Given the description of an element on the screen output the (x, y) to click on. 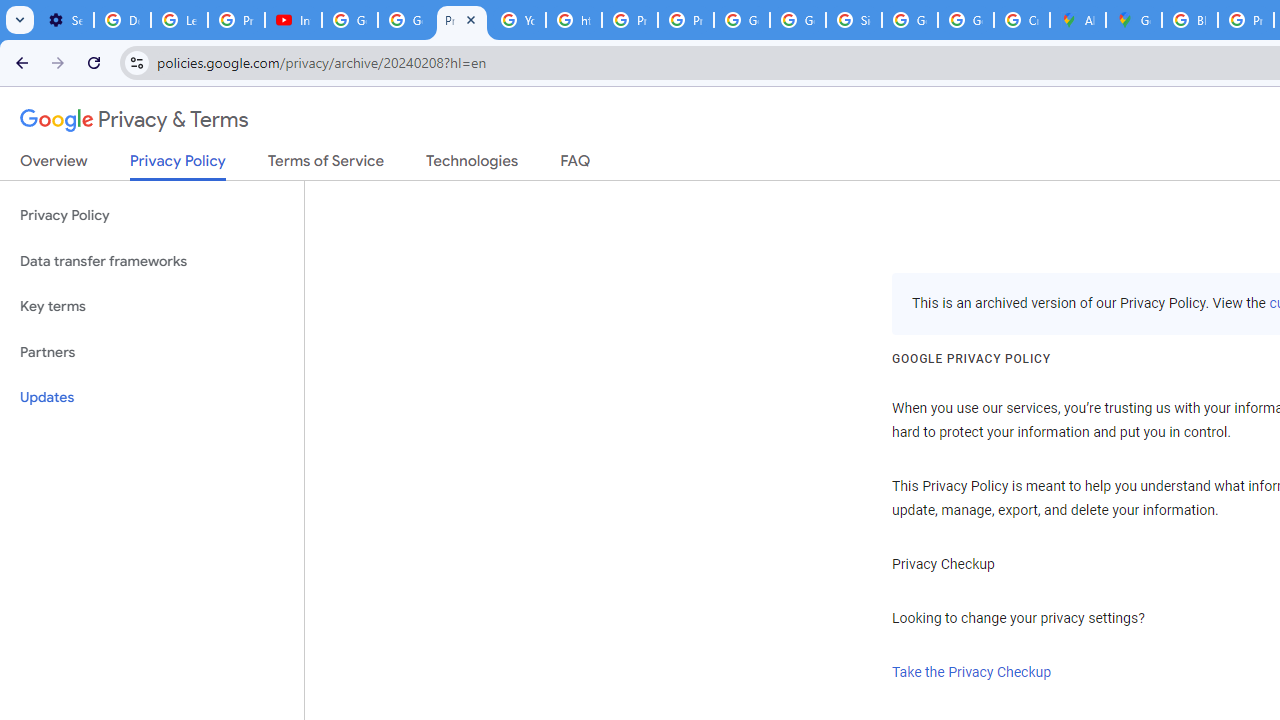
Introduction | Google Privacy Policy - YouTube (293, 20)
Blogger Policies and Guidelines - Transparency Center (1190, 20)
Settings - Customize profile (65, 20)
Updates (152, 398)
Data transfer frameworks (152, 261)
Partners (152, 352)
Privacy Help Center - Policies Help (629, 20)
Technologies (472, 165)
Google Account Help (349, 20)
https://scholar.google.com/ (573, 20)
